Given the description of an element on the screen output the (x, y) to click on. 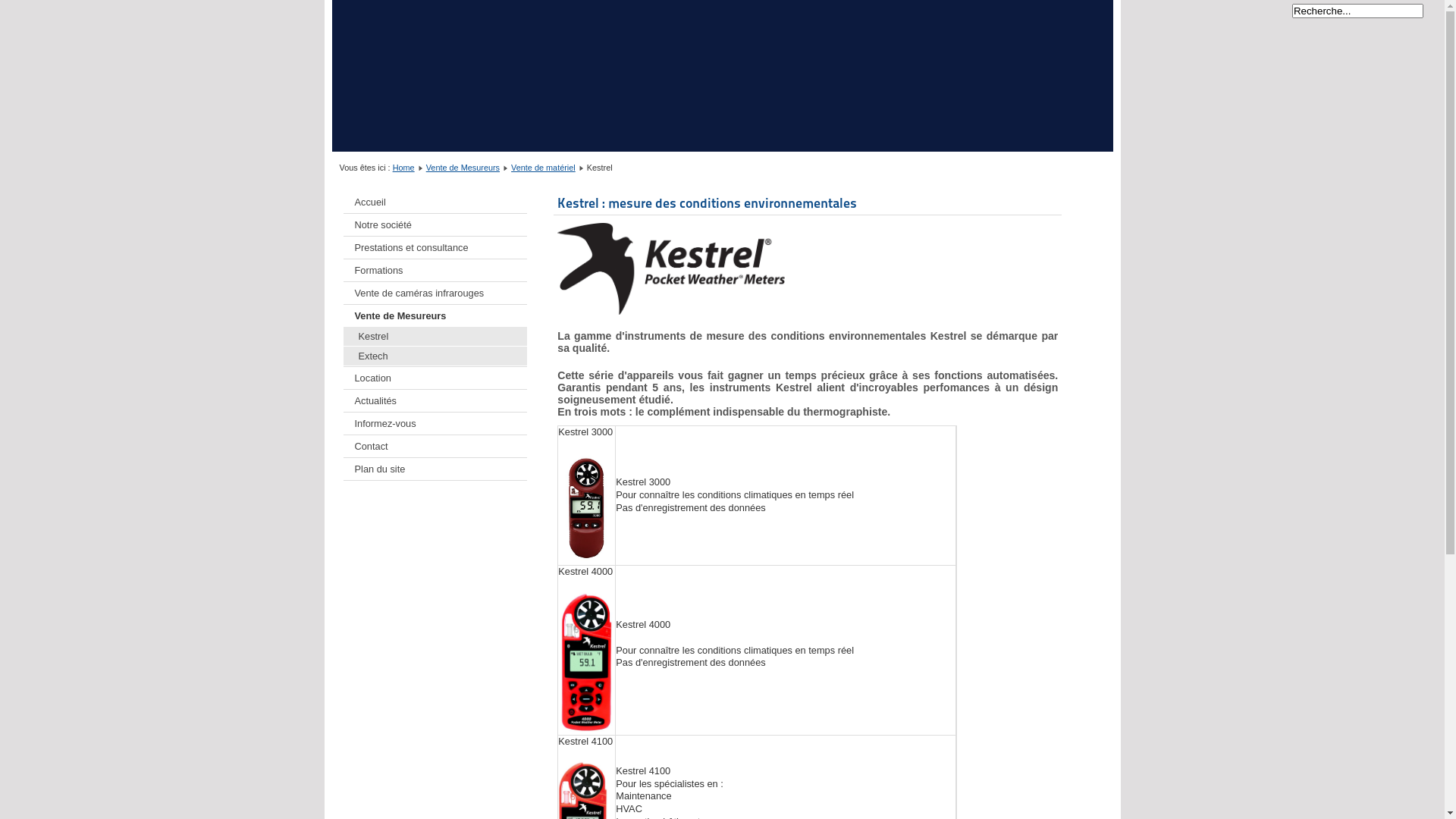
Accueil Element type: text (434, 202)
Informez-vous Element type: text (434, 423)
Extech Element type: text (434, 356)
Plan du site Element type: text (434, 469)
Formations Element type: text (434, 270)
Home Element type: text (403, 167)
Location Element type: text (434, 378)
Vente de Mesureurs Element type: text (434, 315)
Vente de Mesureurs Element type: text (462, 167)
Contact Element type: text (434, 446)
Kestrel Element type: text (434, 336)
Prestations et consultance Element type: text (434, 247)
